Given the description of an element on the screen output the (x, y) to click on. 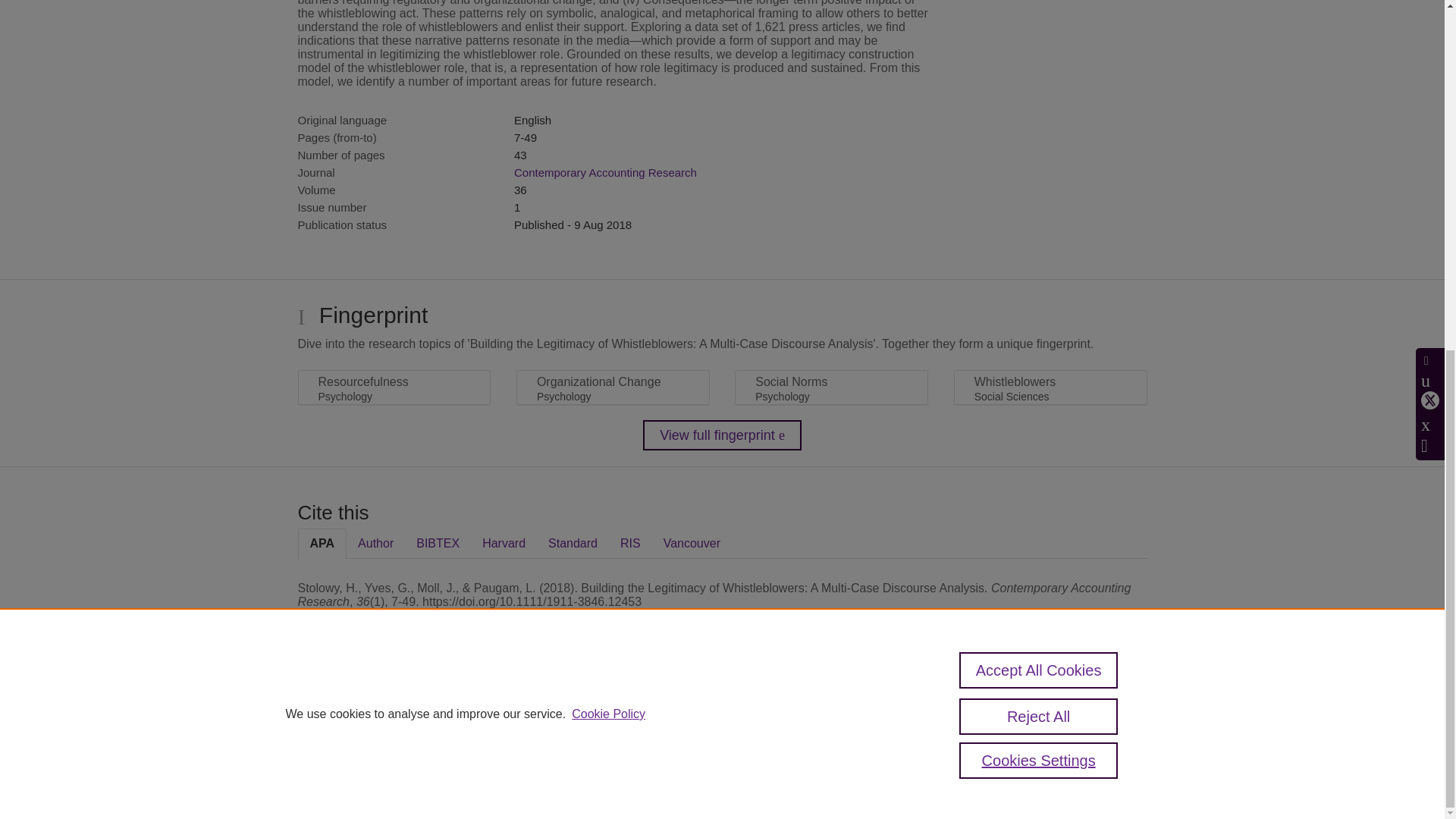
View full fingerprint (722, 435)
Elsevier B.V. (506, 727)
Pure (362, 707)
Contemporary Accounting Research (605, 172)
Scopus (394, 707)
